Given the description of an element on the screen output the (x, y) to click on. 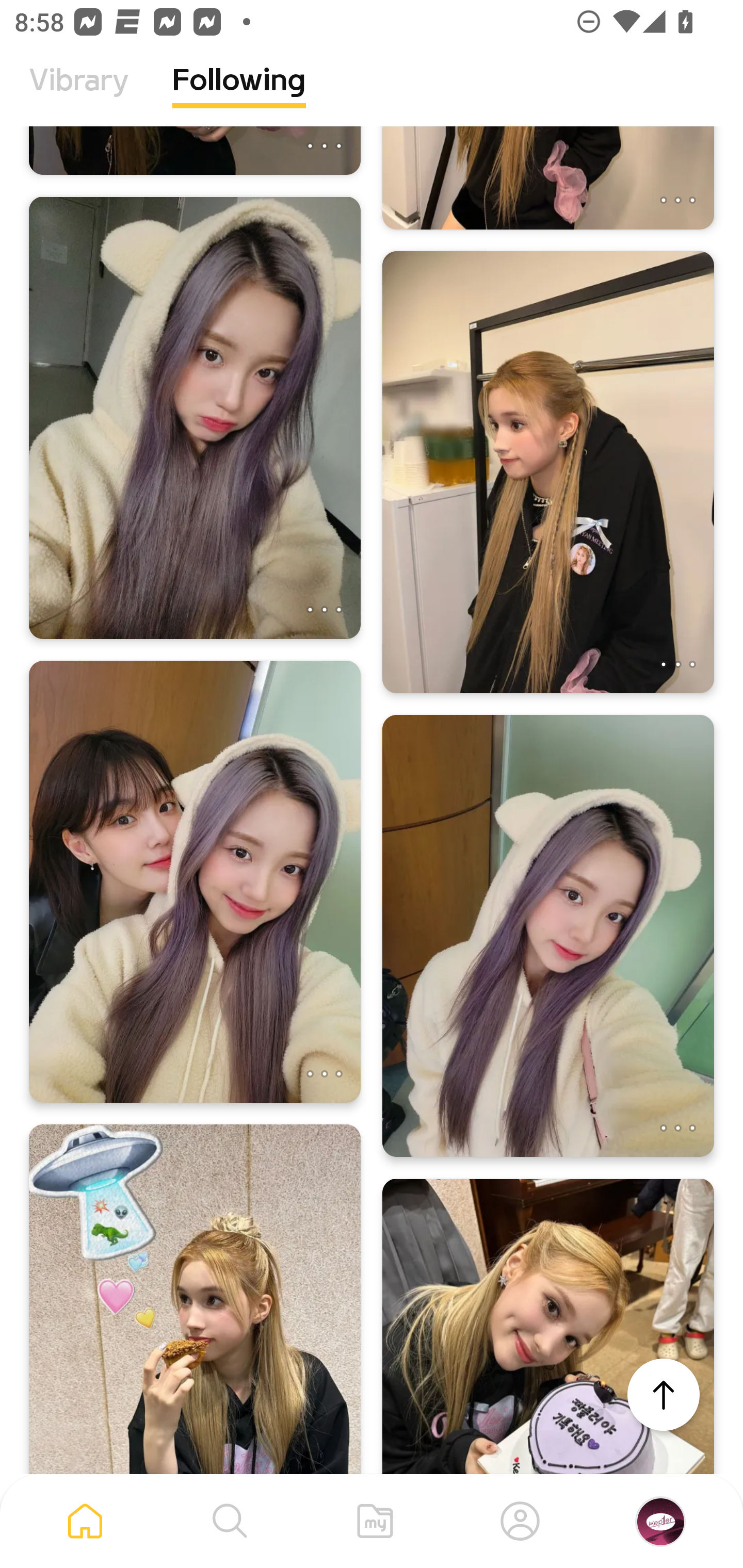
Vibrary (78, 95)
Following (239, 95)
